Given the description of an element on the screen output the (x, y) to click on. 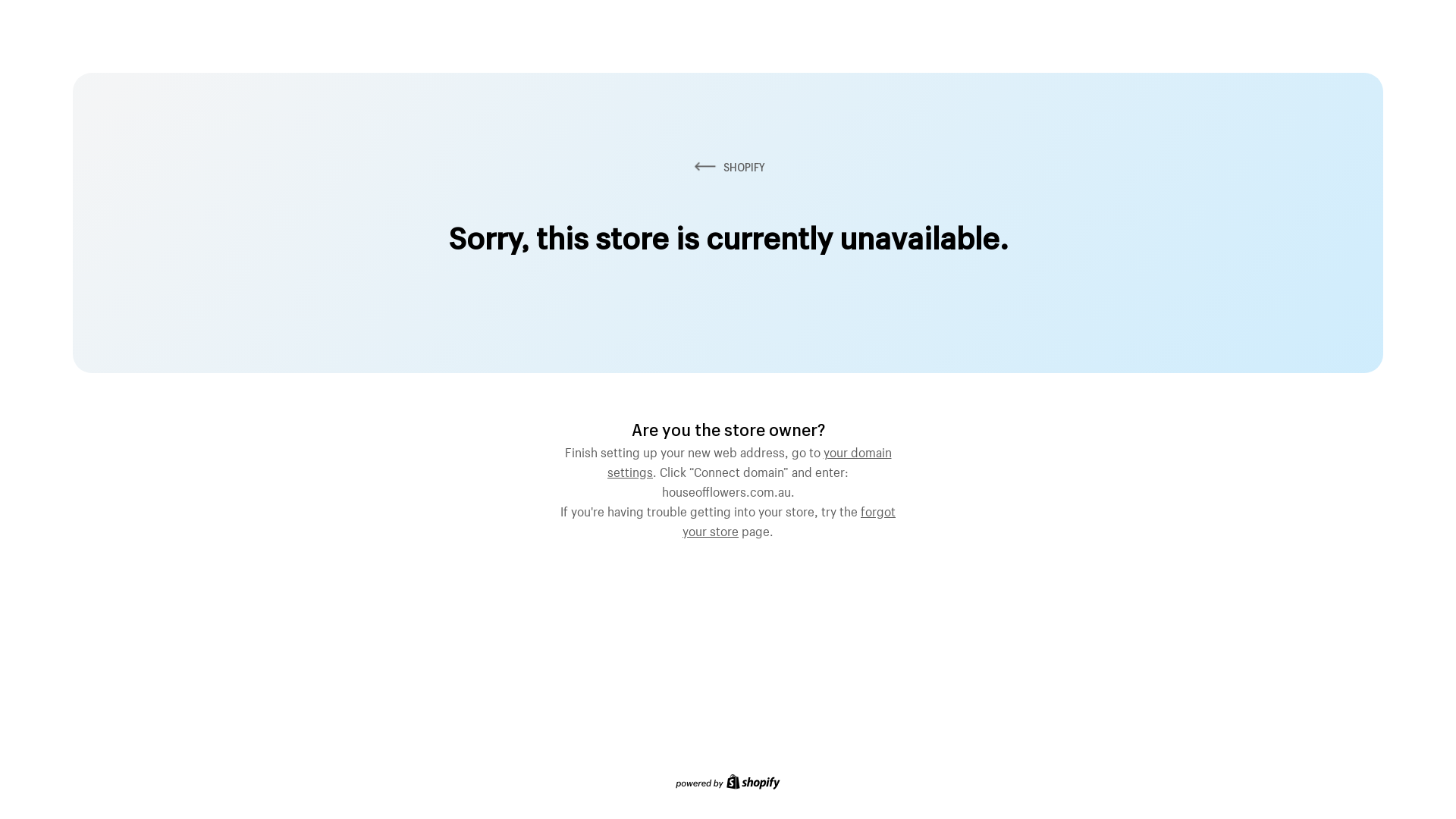
your domain settings Element type: text (749, 460)
SHOPIFY Element type: text (727, 167)
forgot your store Element type: text (788, 519)
